Given the description of an element on the screen output the (x, y) to click on. 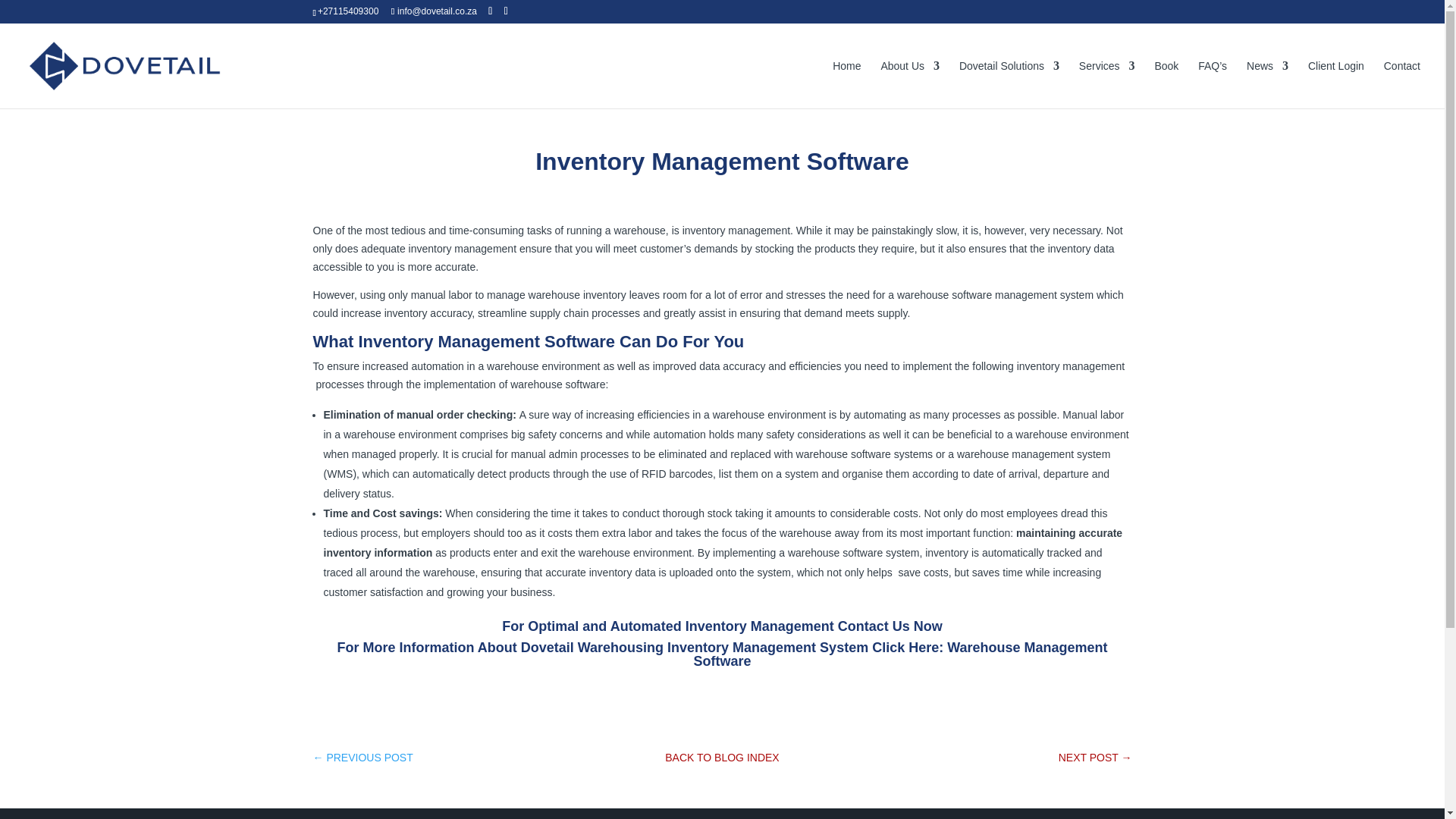
Dovetail Solutions (1009, 84)
Services (1106, 84)
About Us (909, 84)
